Given the description of an element on the screen output the (x, y) to click on. 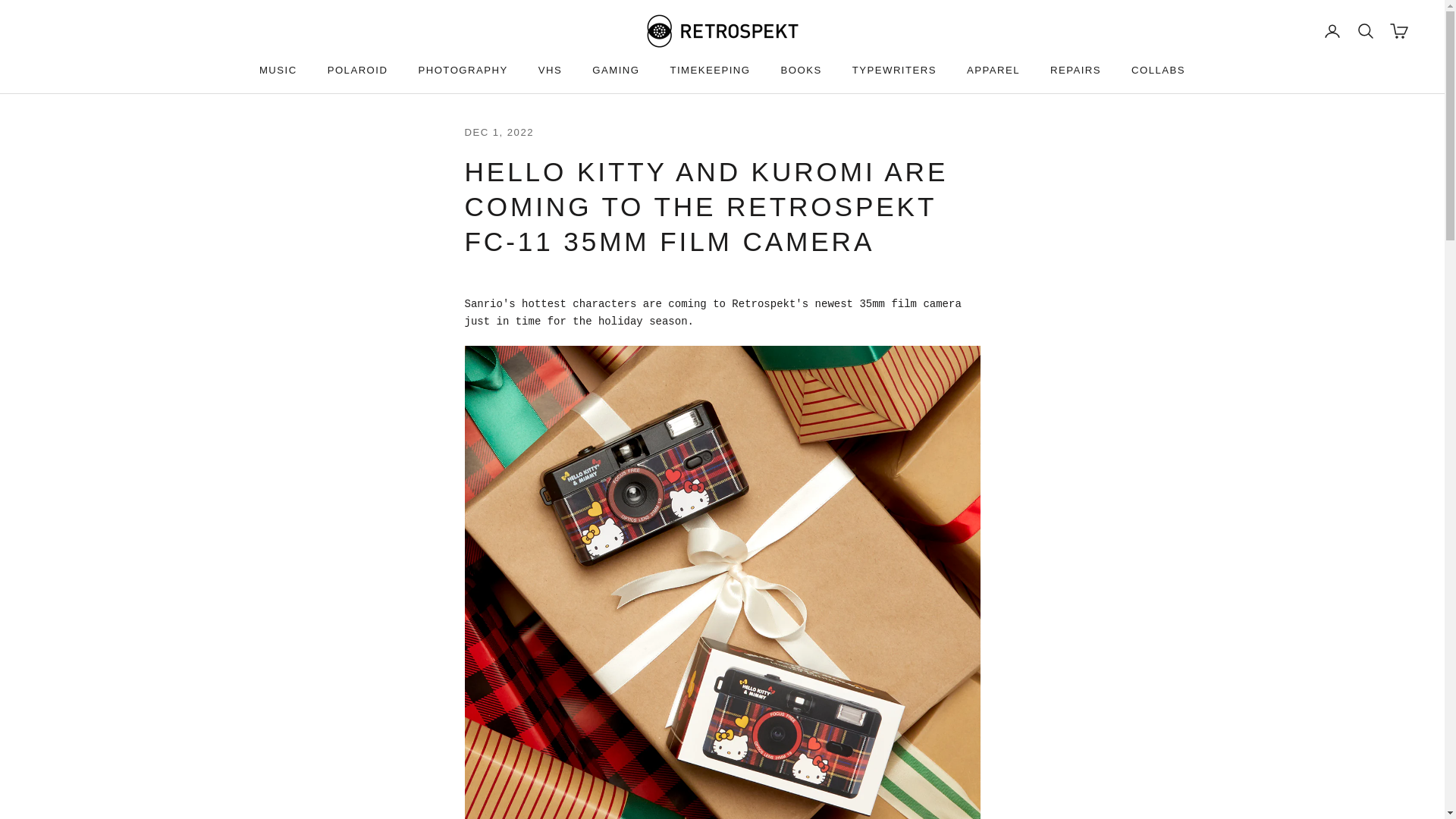
Retrospekt (721, 30)
